Given the description of an element on the screen output the (x, y) to click on. 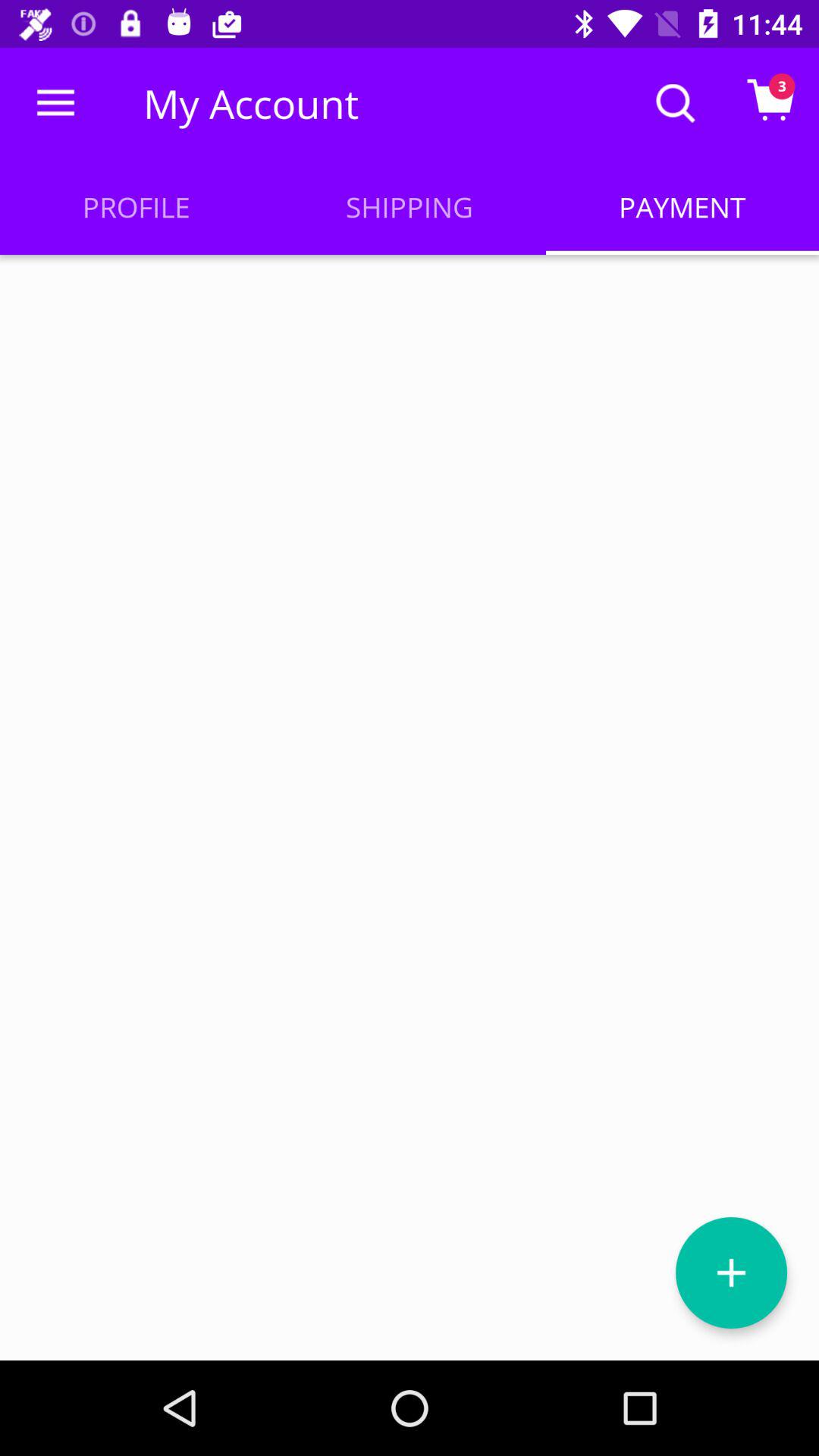
add payment (731, 1272)
